Given the description of an element on the screen output the (x, y) to click on. 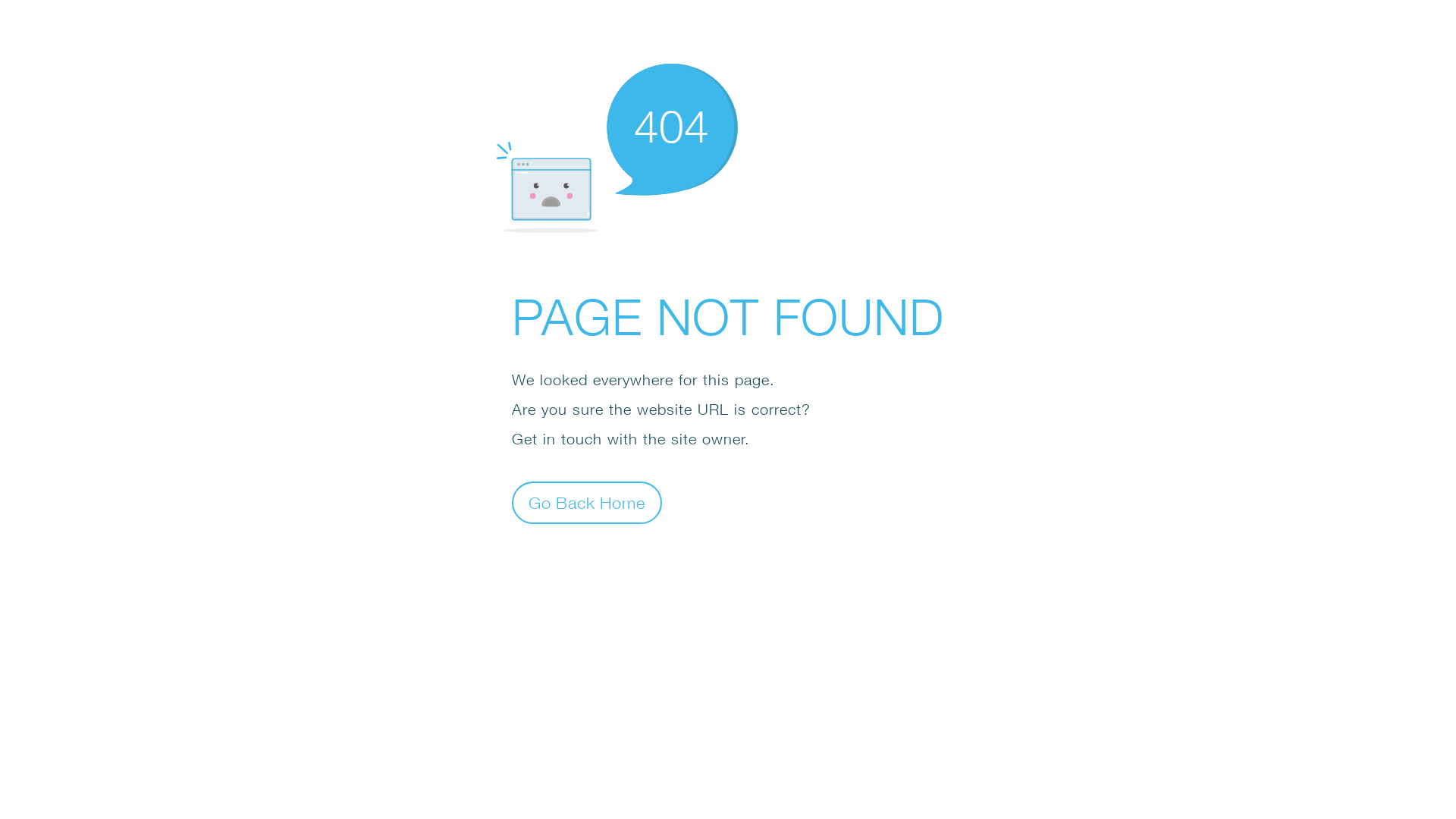
Go Back Home Element type: text (586, 502)
